Given the description of an element on the screen output the (x, y) to click on. 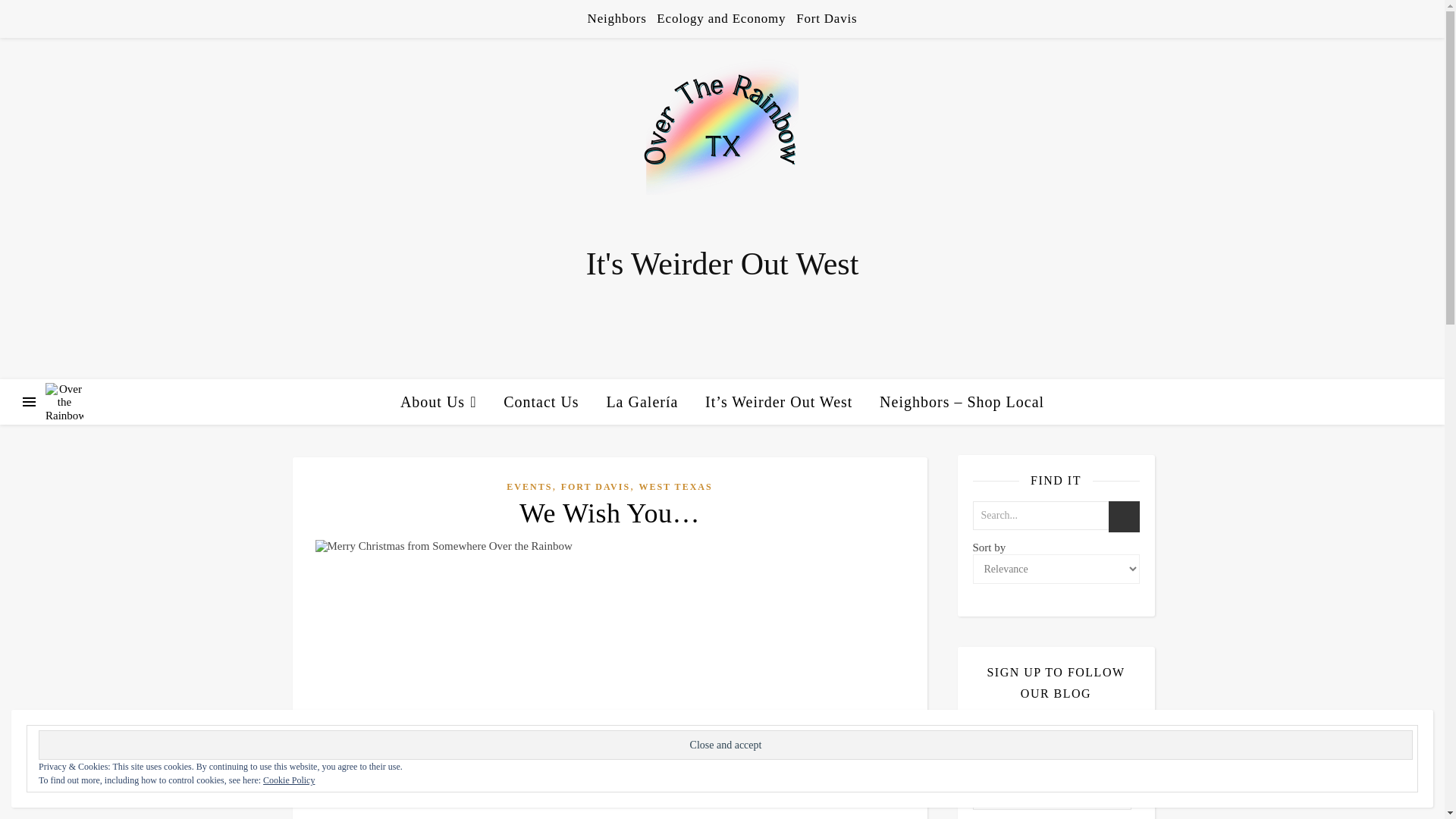
Close and accept (725, 745)
Over the Rainbow TX (63, 401)
Over the Rainbow TX (721, 140)
Ecology and Economy (720, 18)
Fort Davis (824, 18)
FORT DAVIS (595, 486)
About Us (444, 402)
Neighbors (619, 18)
EVENTS (528, 486)
WEST TEXAS (675, 486)
